Given the description of an element on the screen output the (x, y) to click on. 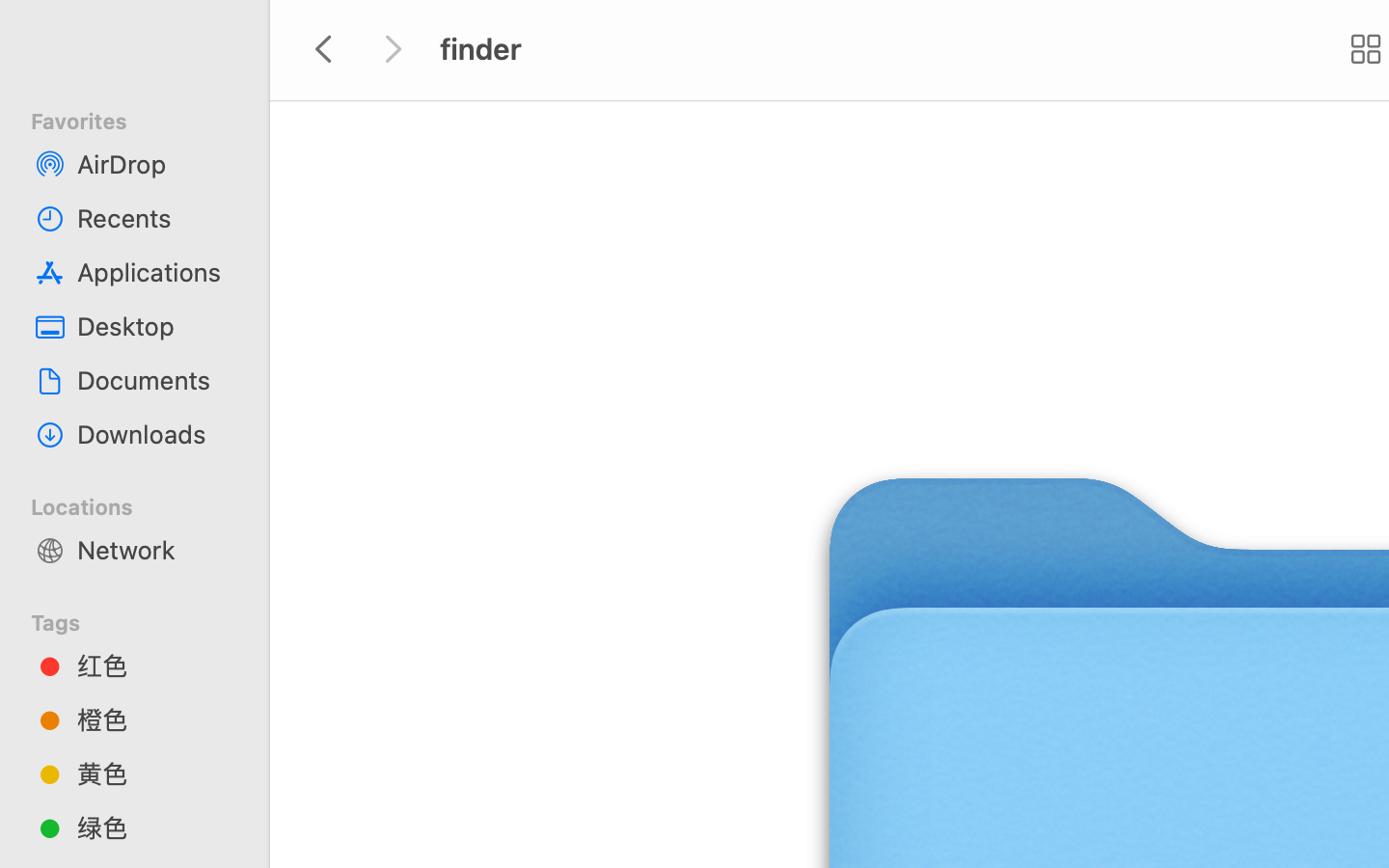
Applications Element type: AXStaticText (155, 271)
Locations Element type: AXStaticText (145, 504)
Recents Element type: AXStaticText (155, 217)
黄色 Element type: AXStaticText (155, 773)
